Given the description of an element on the screen output the (x, y) to click on. 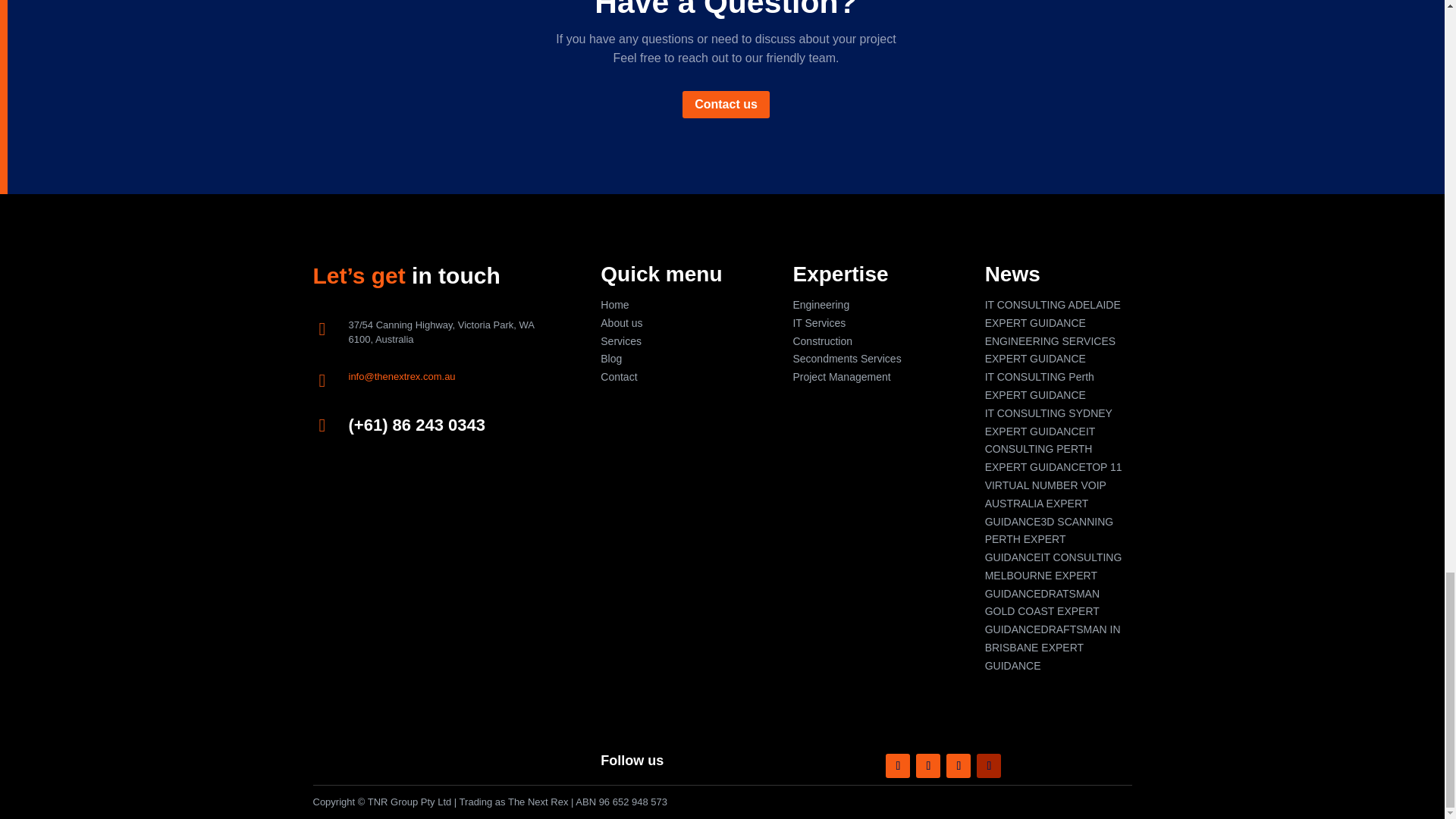
Follow on Facebook (897, 765)
Follow on X (927, 765)
Follow on Youtube (988, 765)
Follow on LinkedIn (958, 765)
